Given the description of an element on the screen output the (x, y) to click on. 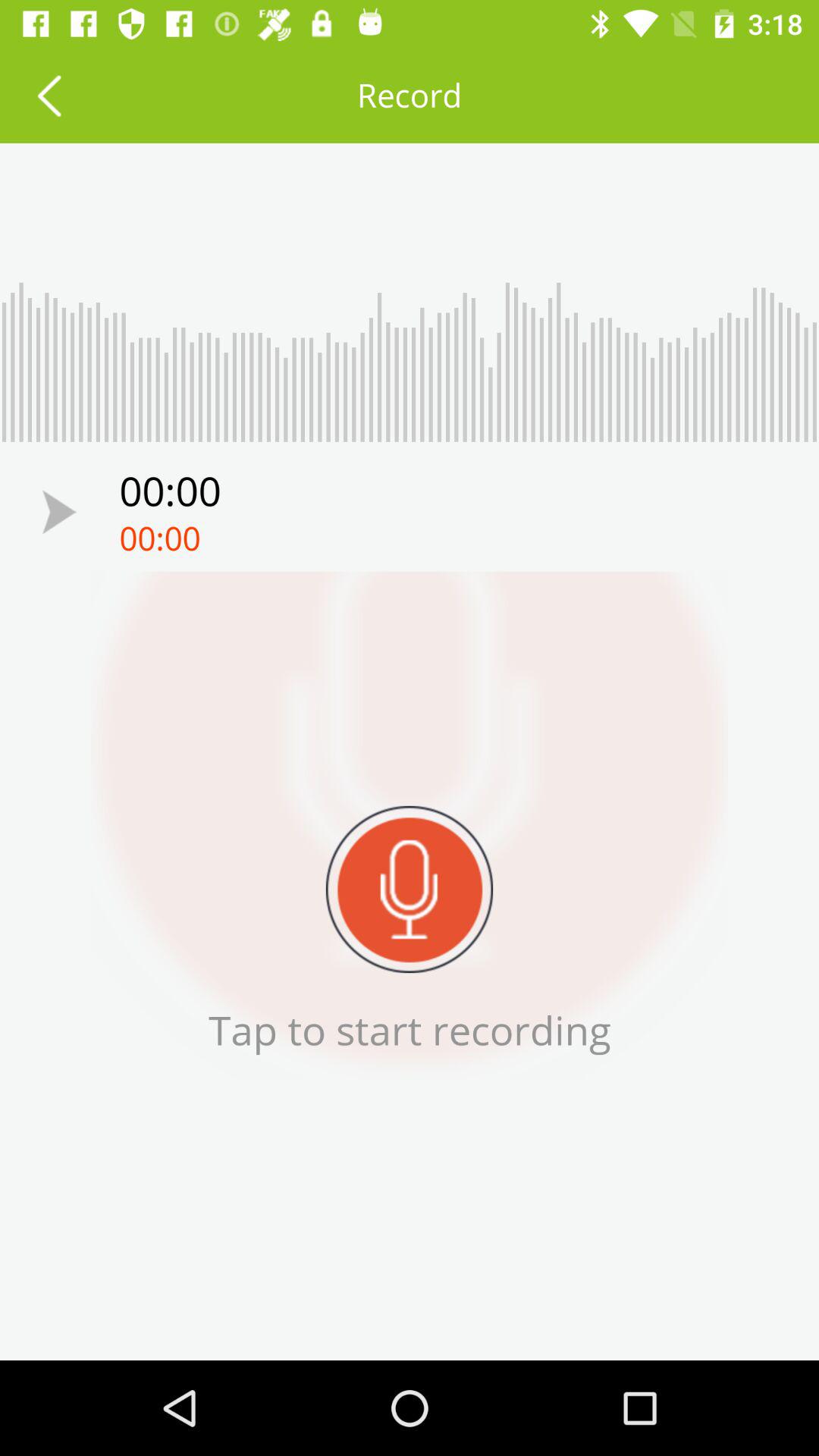
start recording (59, 511)
